Given the description of an element on the screen output the (x, y) to click on. 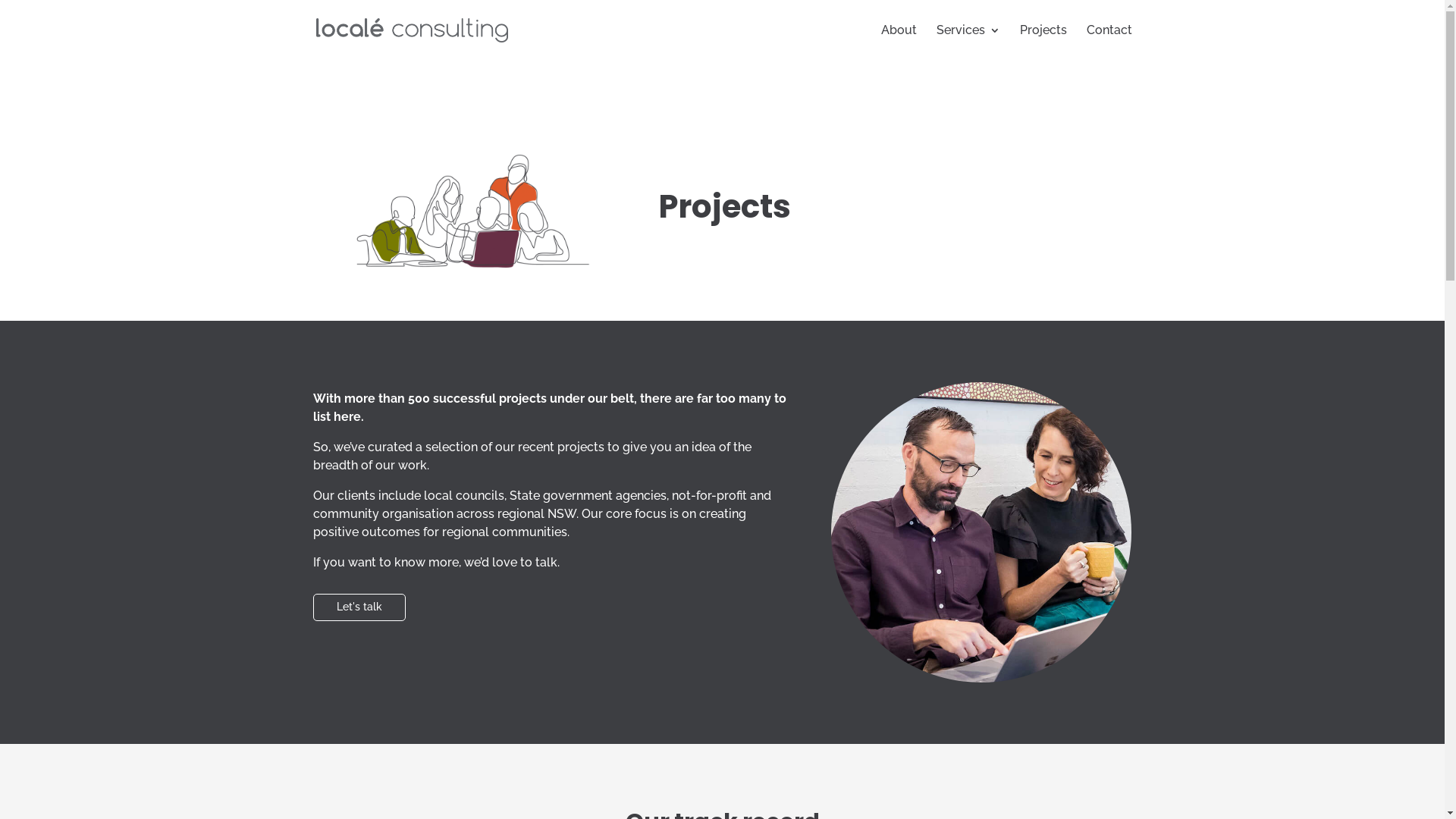
About Element type: text (898, 42)
locale consulting projects Element type: hover (462, 211)
Services Element type: text (967, 42)
Projects Element type: text (1042, 42)
Let's talk Element type: text (358, 607)
Contact Element type: text (1108, 42)
